Given the description of an element on the screen output the (x, y) to click on. 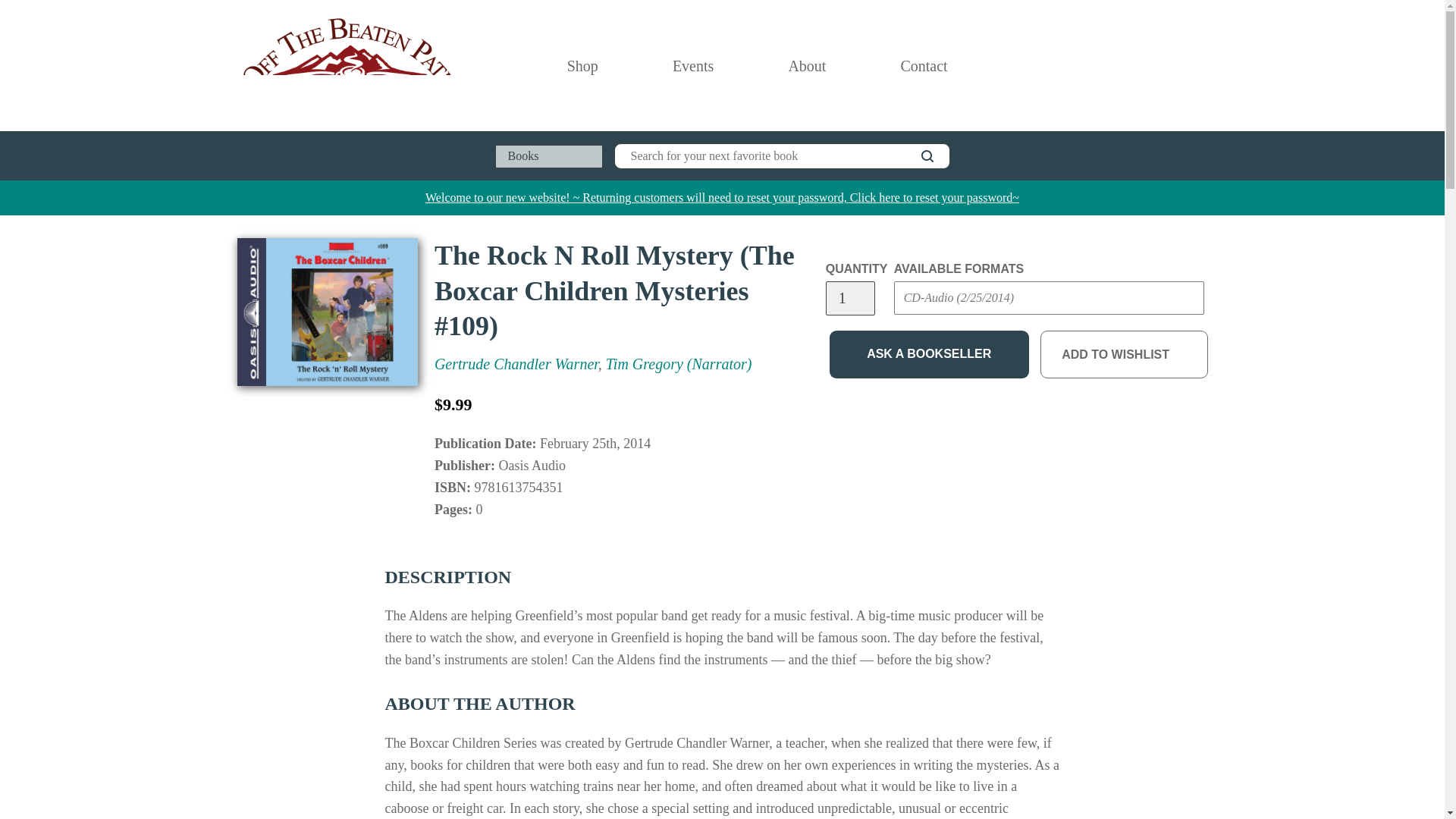
ADD TO WISHLIST (1124, 354)
1 (850, 298)
ASK A BOOKSELLER (929, 354)
Cart (1201, 65)
Cart (1201, 65)
SEARCH (926, 156)
Contact (922, 65)
Submit (922, 328)
Events (692, 65)
Gertrude Chandler Warner (515, 363)
